Given the description of an element on the screen output the (x, y) to click on. 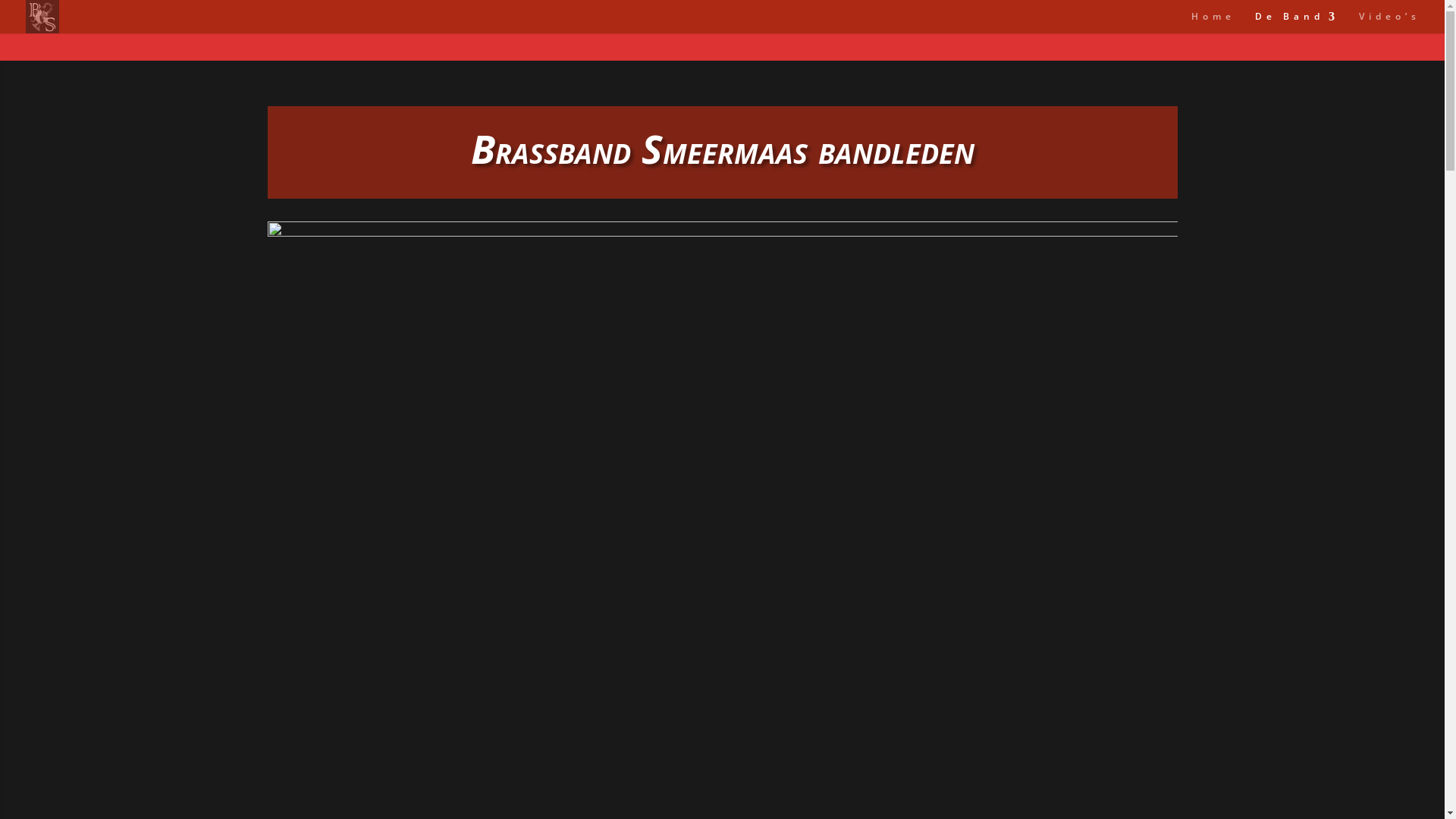
Home Element type: text (1213, 22)
De Band Element type: text (1297, 22)
bewerkte foto's_Groepsplaat1639826673351 Element type: hover (721, 505)
